Given the description of an element on the screen output the (x, y) to click on. 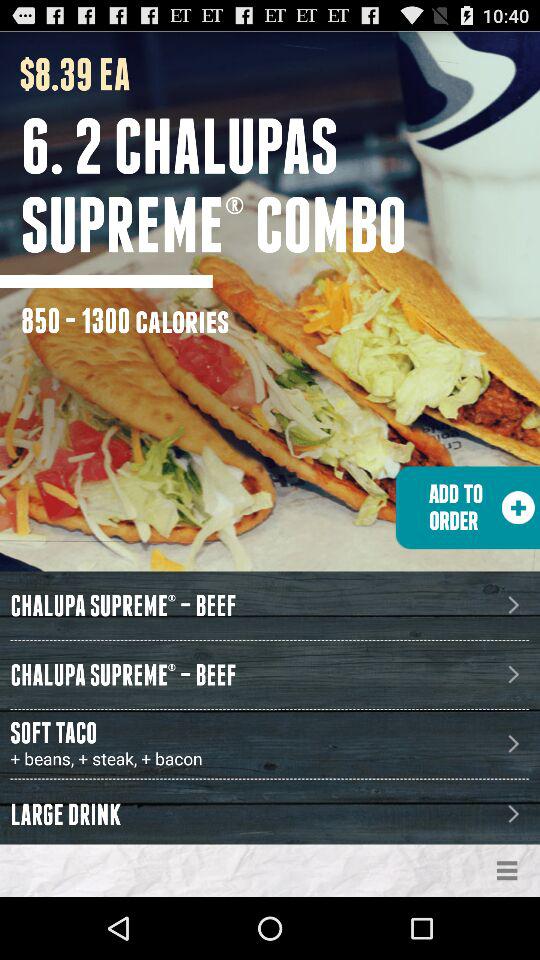
launch the 6 2 chalupas icon (280, 185)
